Given the description of an element on the screen output the (x, y) to click on. 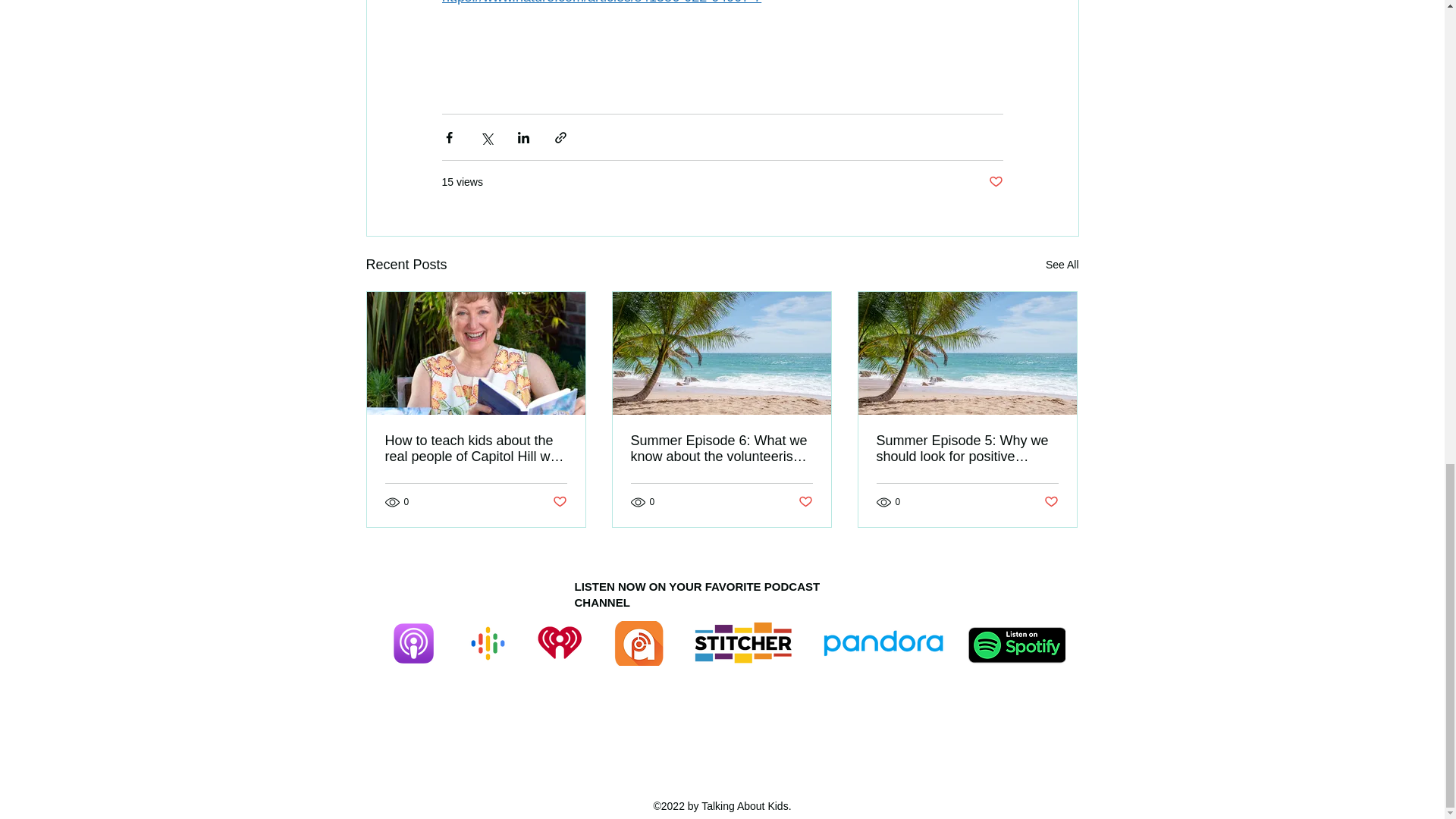
Post not marked as liked (995, 182)
See All (1061, 264)
Post not marked as liked (558, 502)
